Given the description of an element on the screen output the (x, y) to click on. 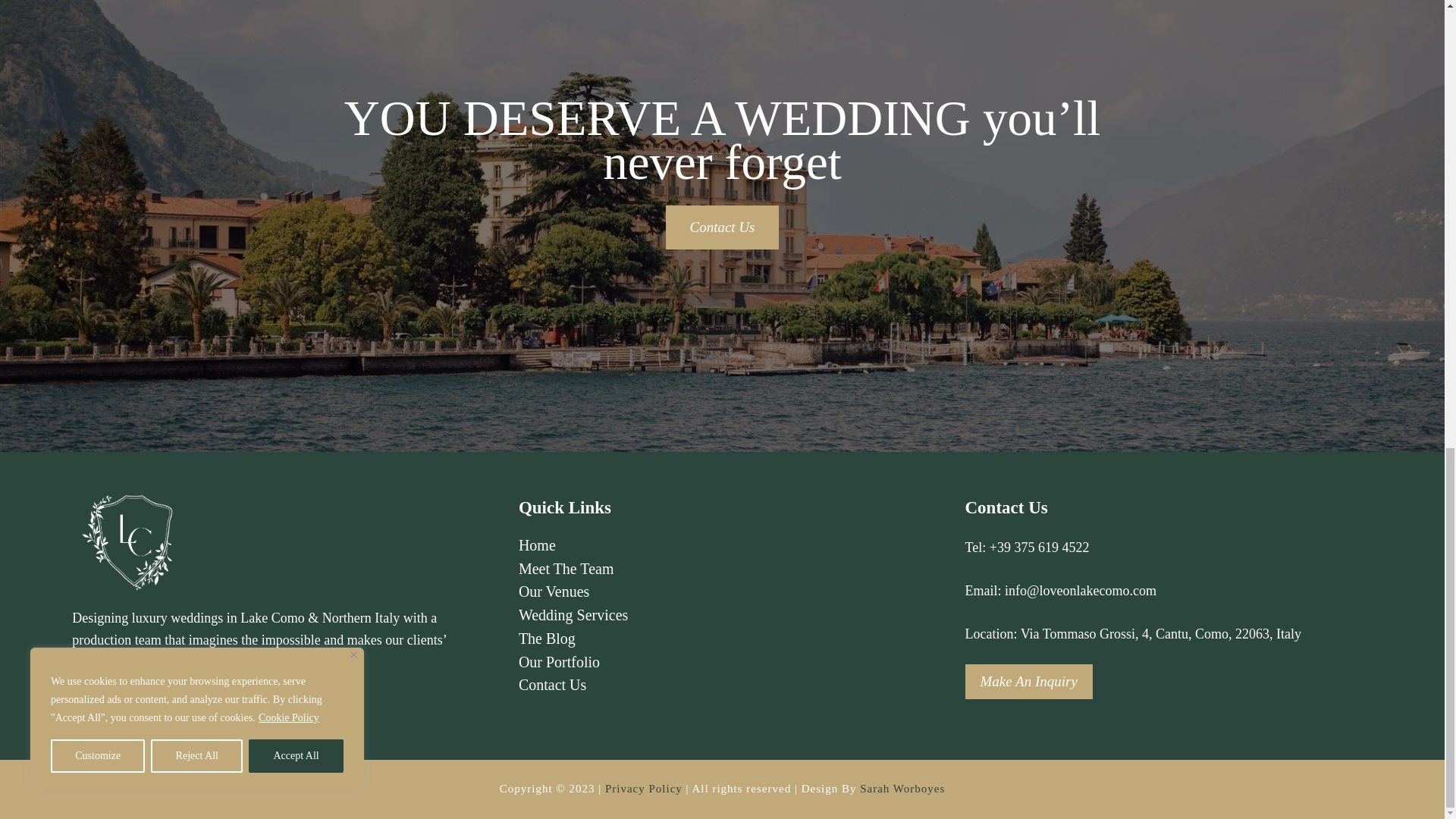
Follow on Instagram (148, 701)
Follow on LinkedIn (116, 701)
Follow on Facebook (84, 701)
Follow on Google (180, 701)
Love On Lake Como Icon (128, 539)
